Given the description of an element on the screen output the (x, y) to click on. 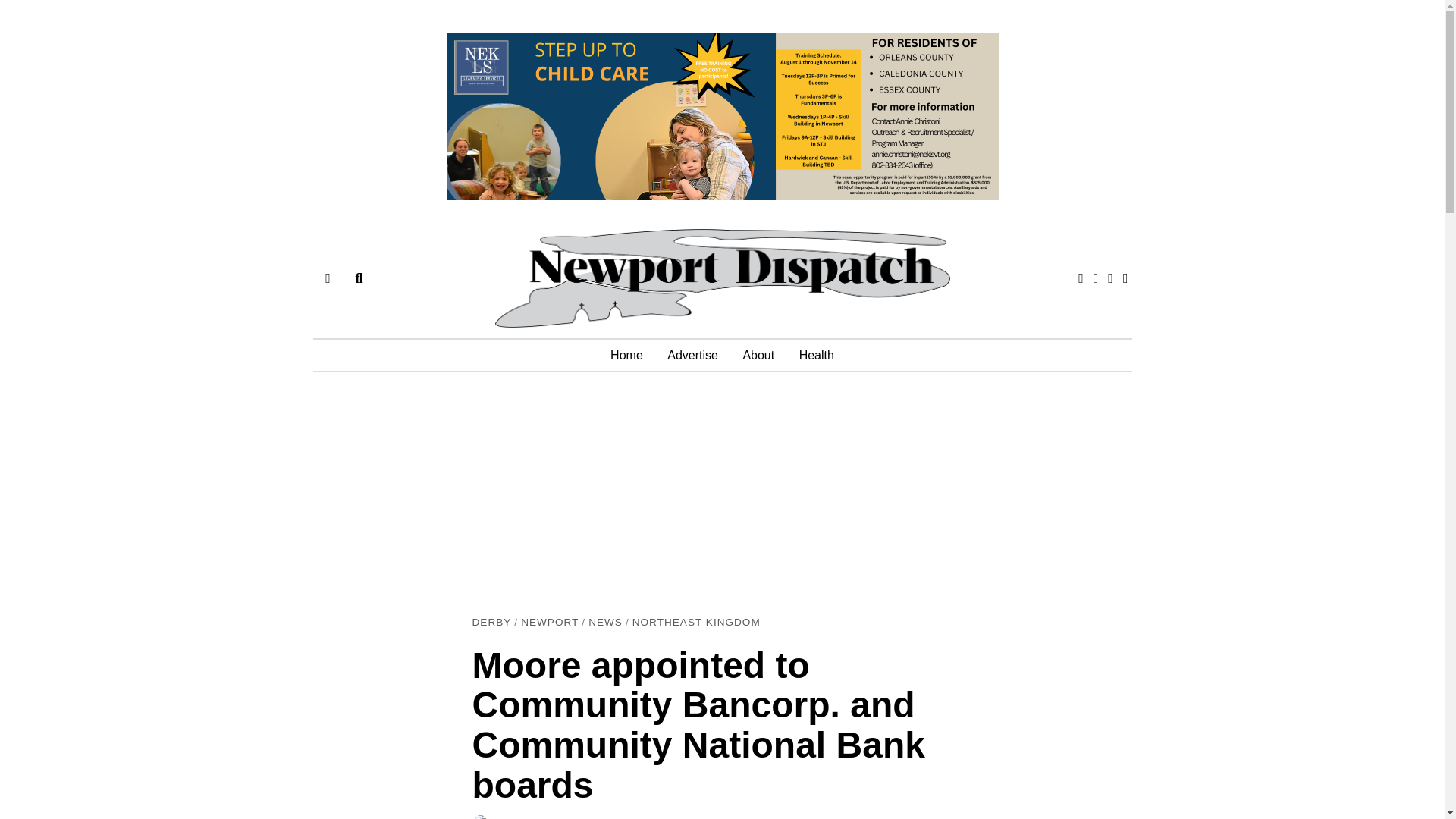
NORTHEAST KINGDOM (695, 622)
YouTube (1125, 278)
Home (626, 355)
NEWPORT (549, 622)
Health (816, 355)
DERBY (491, 622)
About (758, 355)
Instagram (1109, 278)
Facebook (1080, 278)
Advertise (692, 355)
Twitter (1095, 278)
NEWS (605, 622)
